Given the description of an element on the screen output the (x, y) to click on. 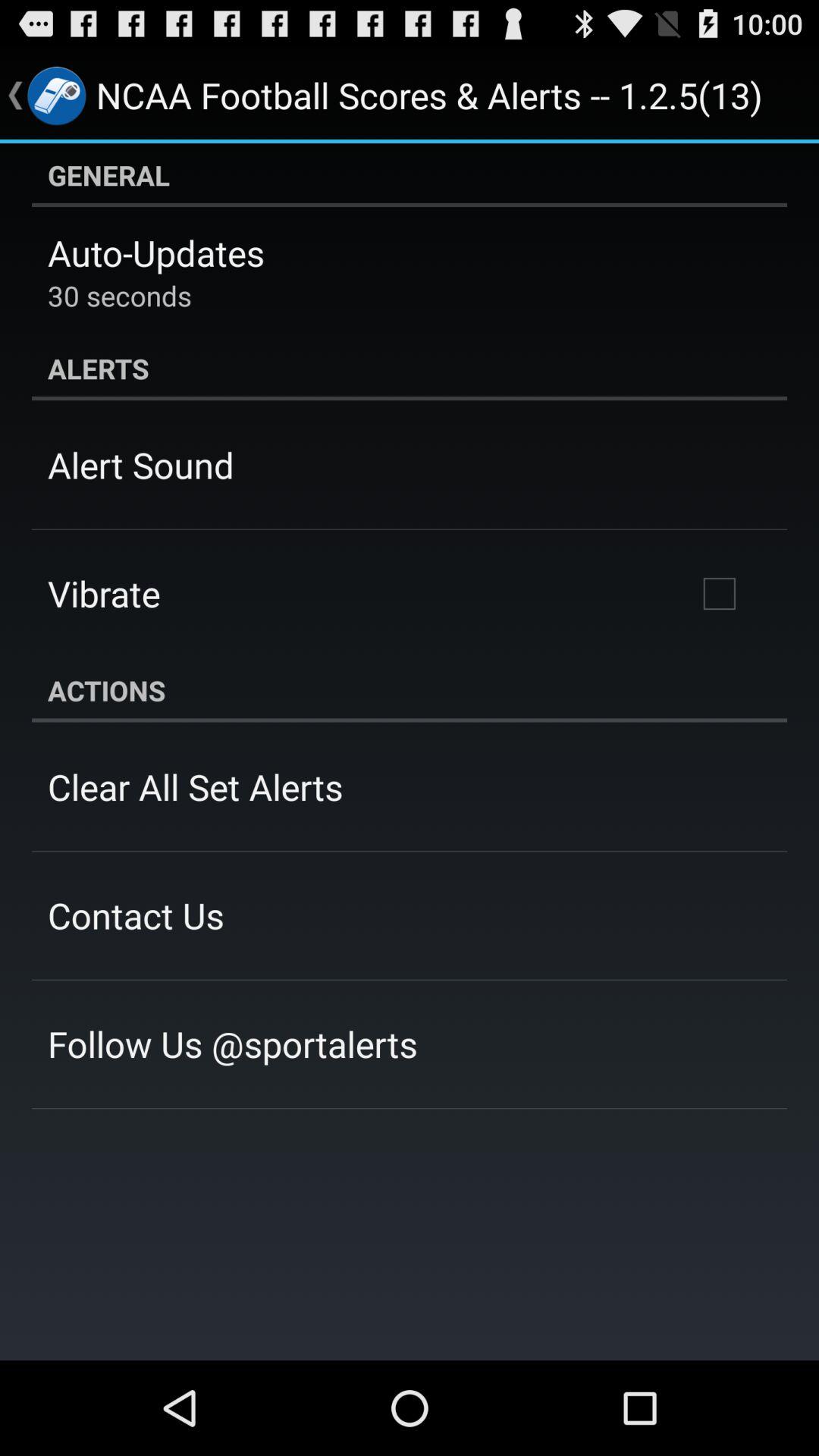
flip to the clear all set item (194, 786)
